Given the description of an element on the screen output the (x, y) to click on. 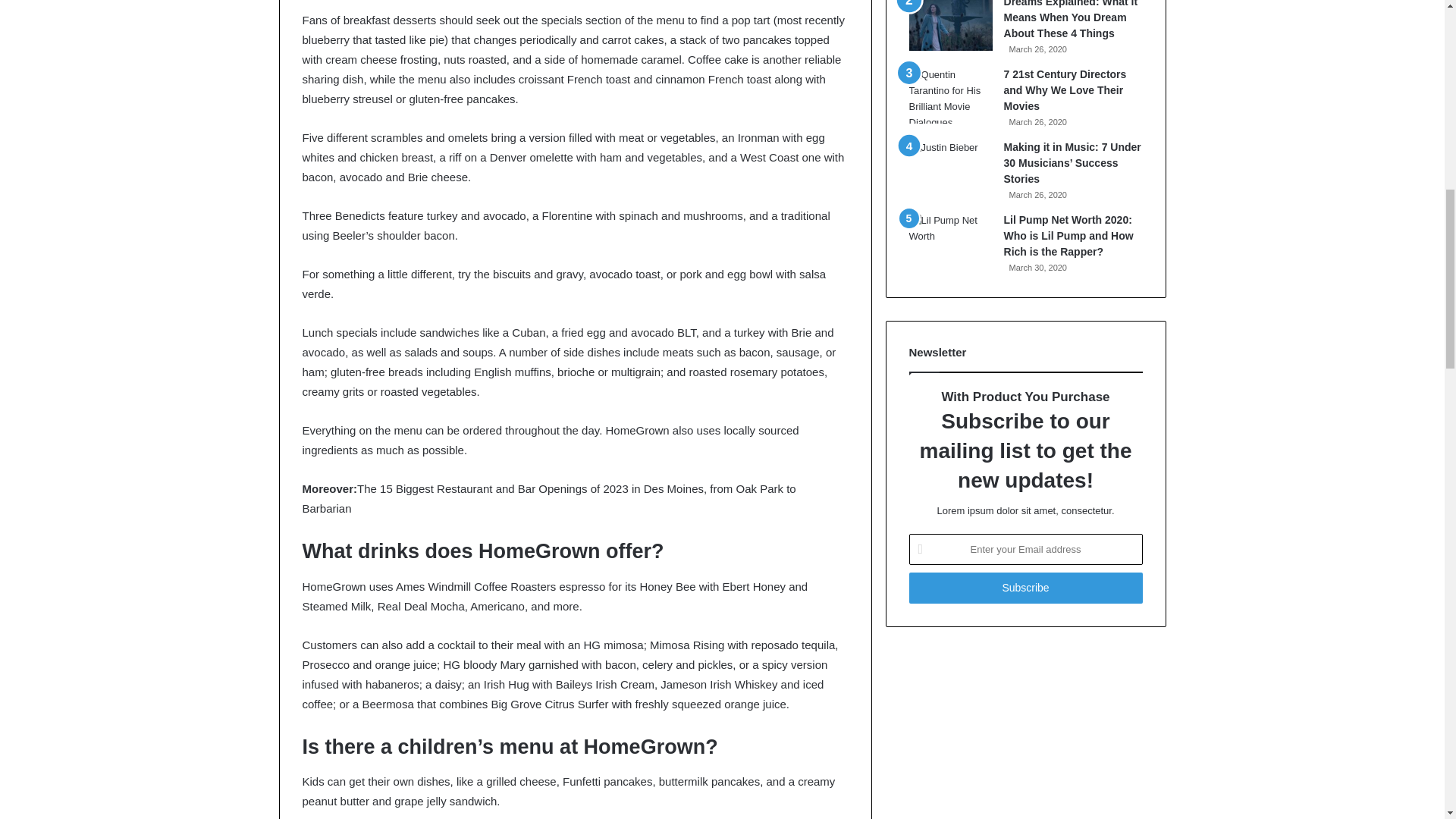
Subscribe (1025, 587)
